Given the description of an element on the screen output the (x, y) to click on. 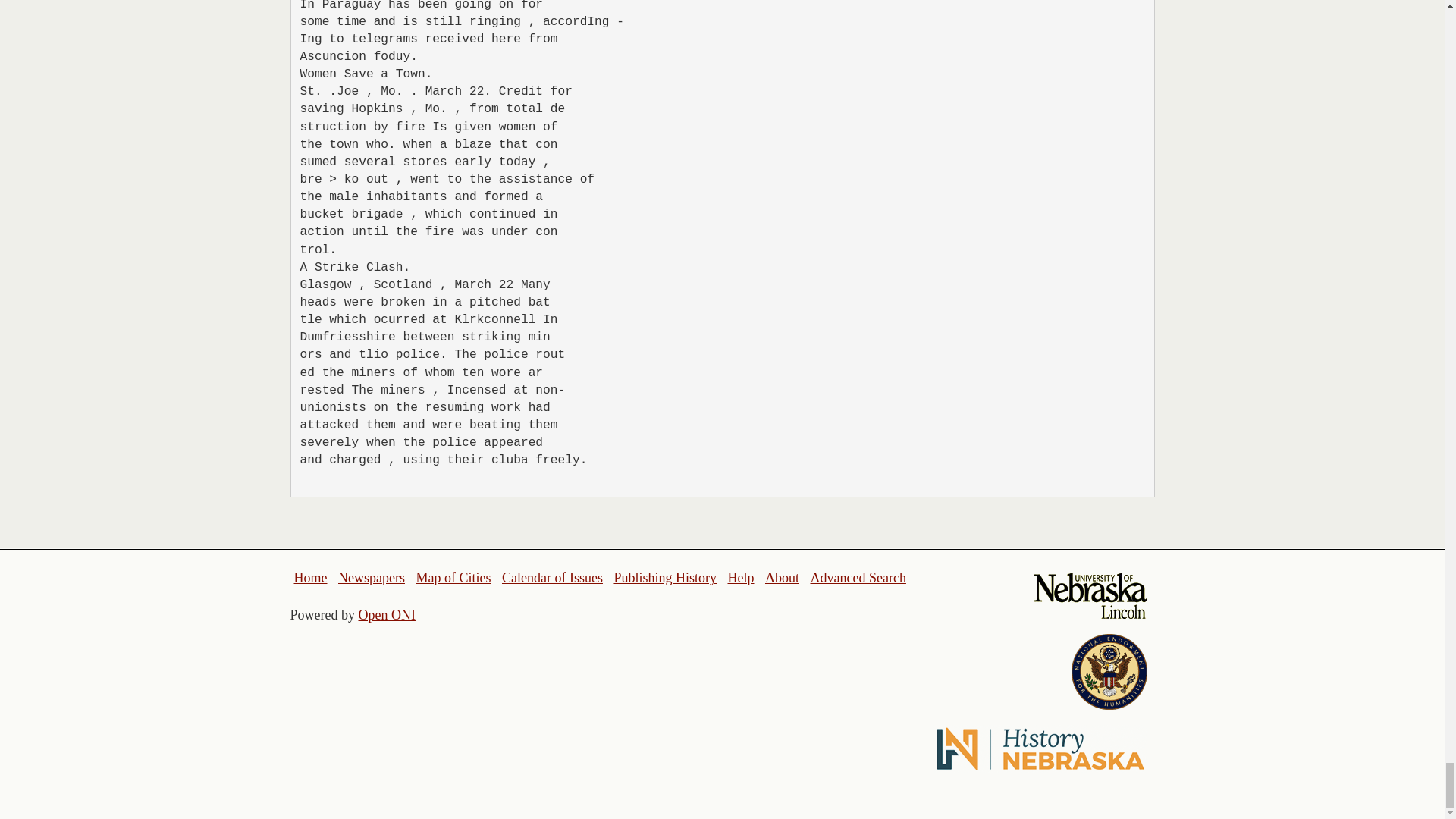
Open ONI (386, 614)
Calendar of Issues (552, 577)
Advanced Search (857, 577)
Home (310, 577)
Publishing History (664, 577)
Help (740, 577)
About (782, 577)
Newspapers (370, 577)
Map of Cities (452, 577)
